Given the description of an element on the screen output the (x, y) to click on. 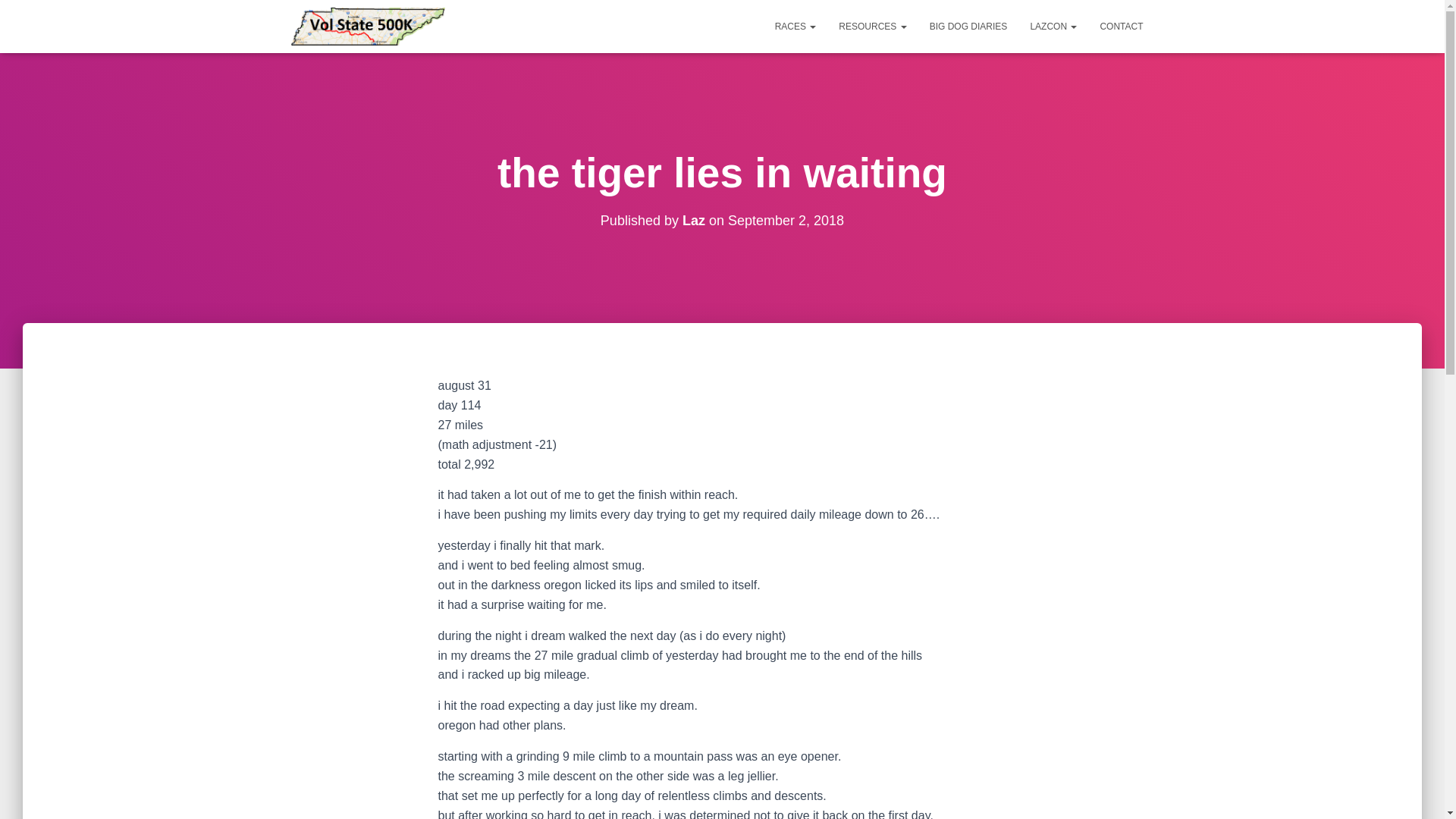
LAZCON (1052, 26)
LAVS 2024 (368, 26)
Races (795, 26)
BIG DOG DIARIES (968, 26)
CONTACT (1120, 26)
RACES (795, 26)
RESOURCES (872, 26)
